Given the description of an element on the screen output the (x, y) to click on. 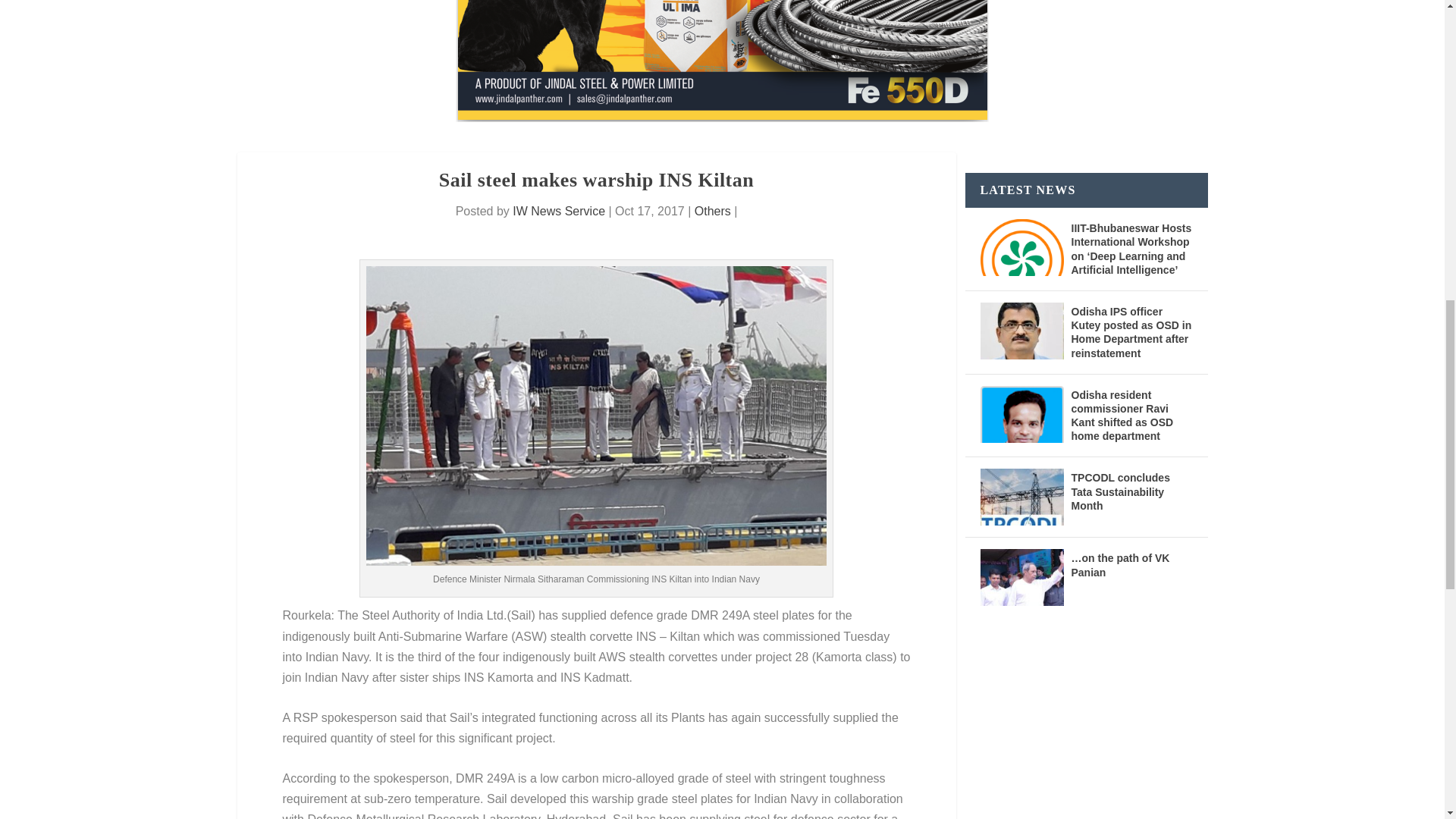
Posts by IW News Service (558, 210)
